Given the description of an element on the screen output the (x, y) to click on. 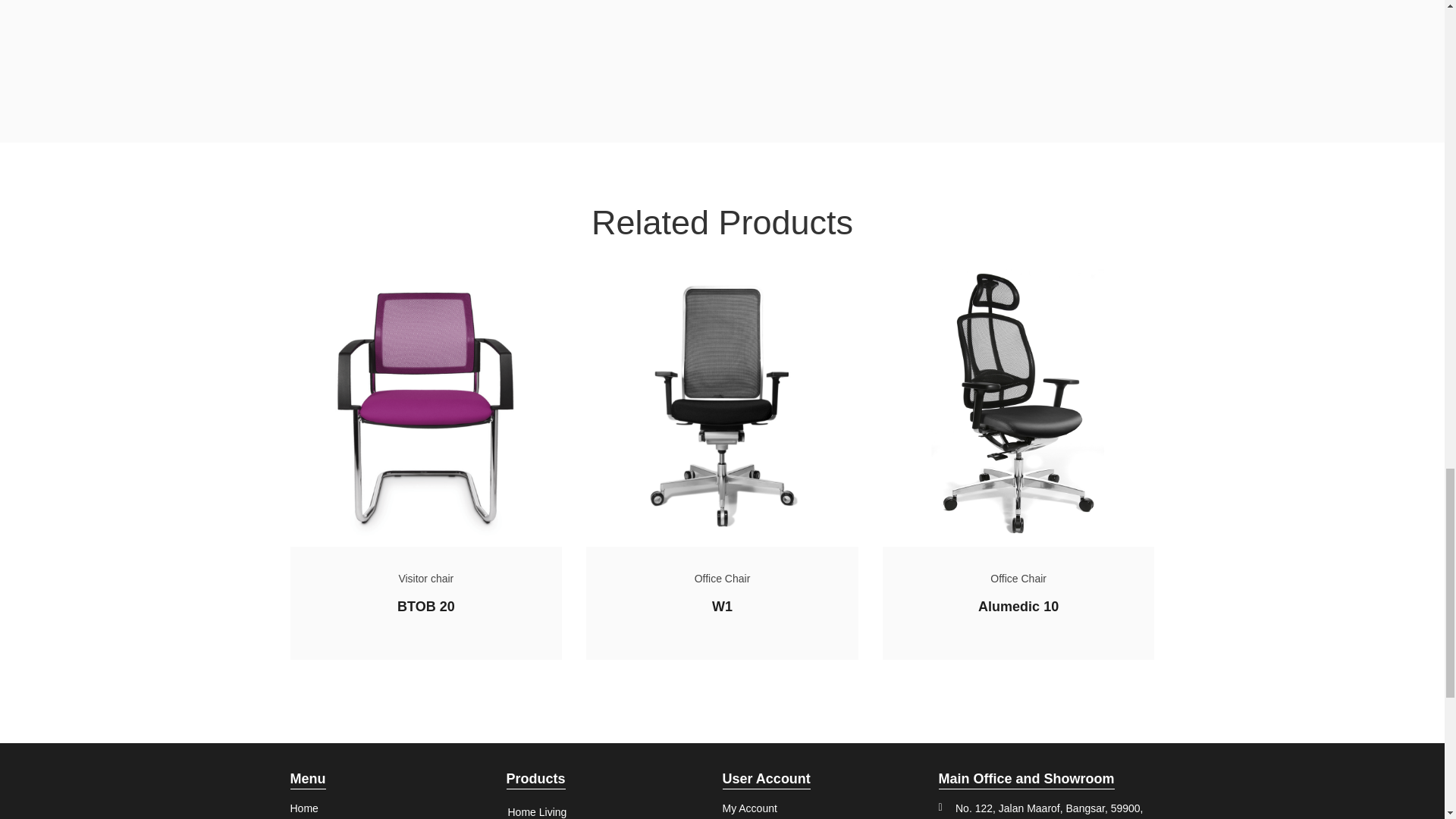
BTOB 20 (425, 606)
Visitor chair (424, 578)
Alumedic 10 (1018, 606)
Office Chair (722, 578)
Office Chair (1018, 578)
Home (315, 807)
W1 (721, 606)
